Given the description of an element on the screen output the (x, y) to click on. 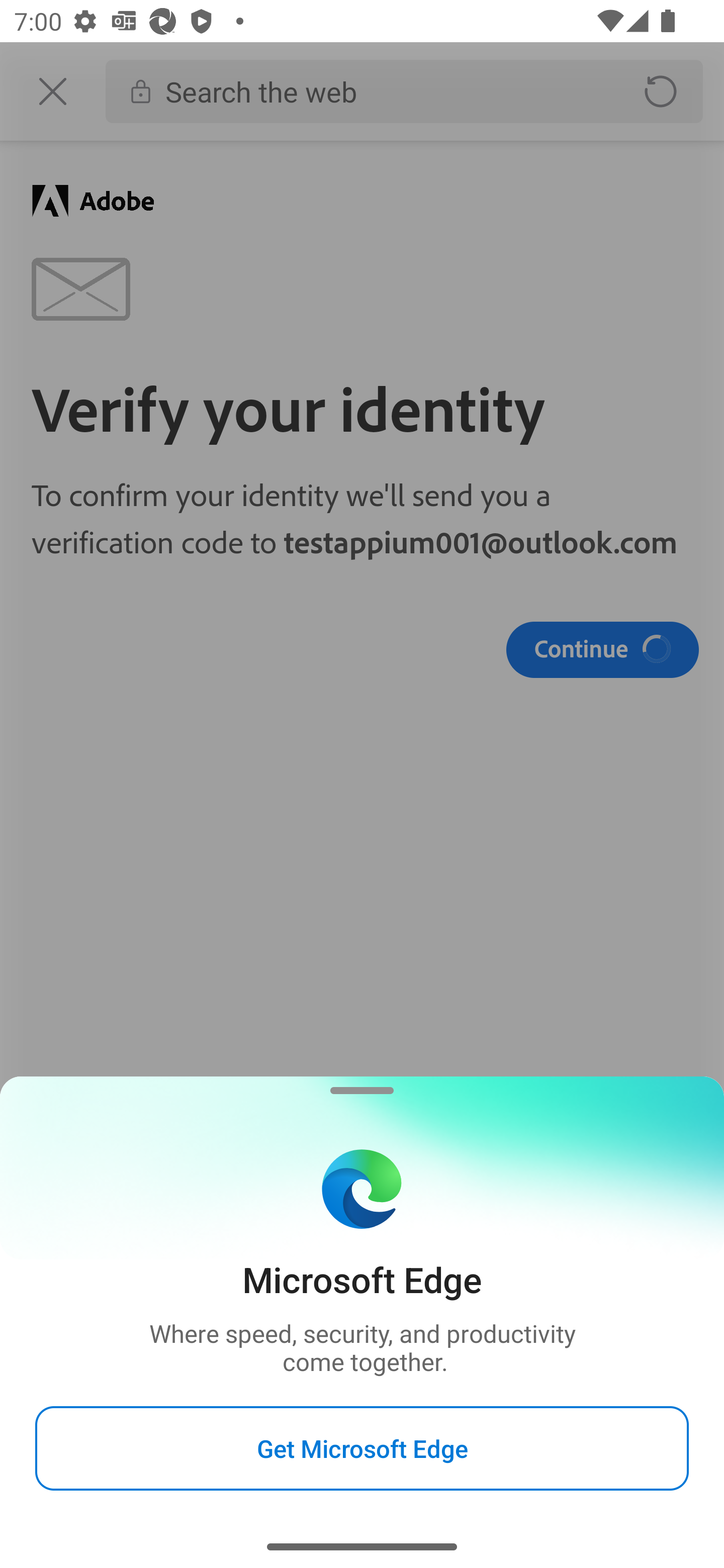
Get Microsoft Edge (361, 1448)
